Given the description of an element on the screen output the (x, y) to click on. 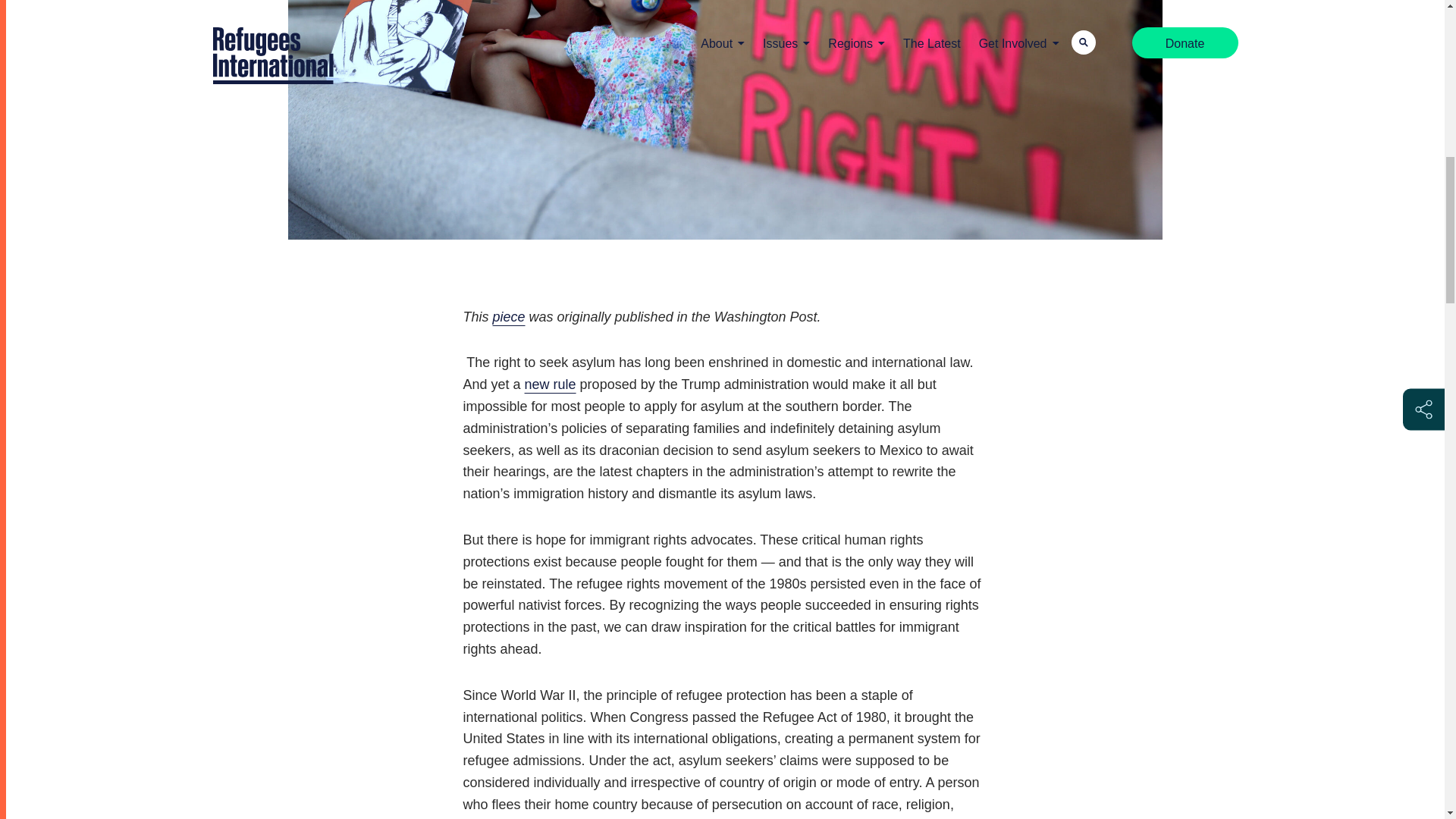
piece (509, 316)
